Given the description of an element on the screen output the (x, y) to click on. 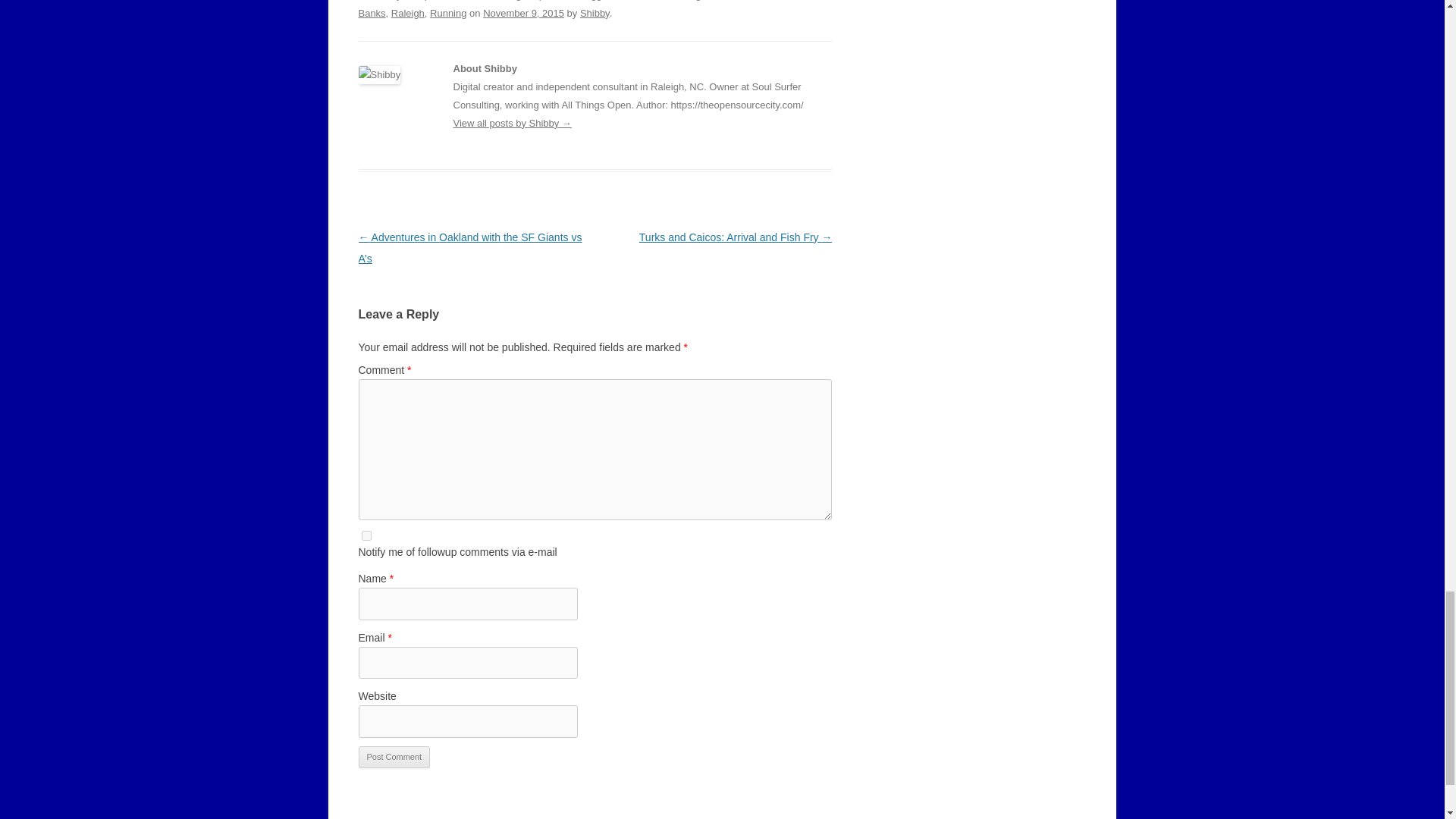
Shibby (594, 12)
November 9, 2015 (523, 12)
8:00 am (523, 12)
Nags Head (707, 0)
Outer Banks (594, 9)
subscribe (366, 535)
Running (447, 12)
Raleigh (408, 12)
